Given the description of an element on the screen output the (x, y) to click on. 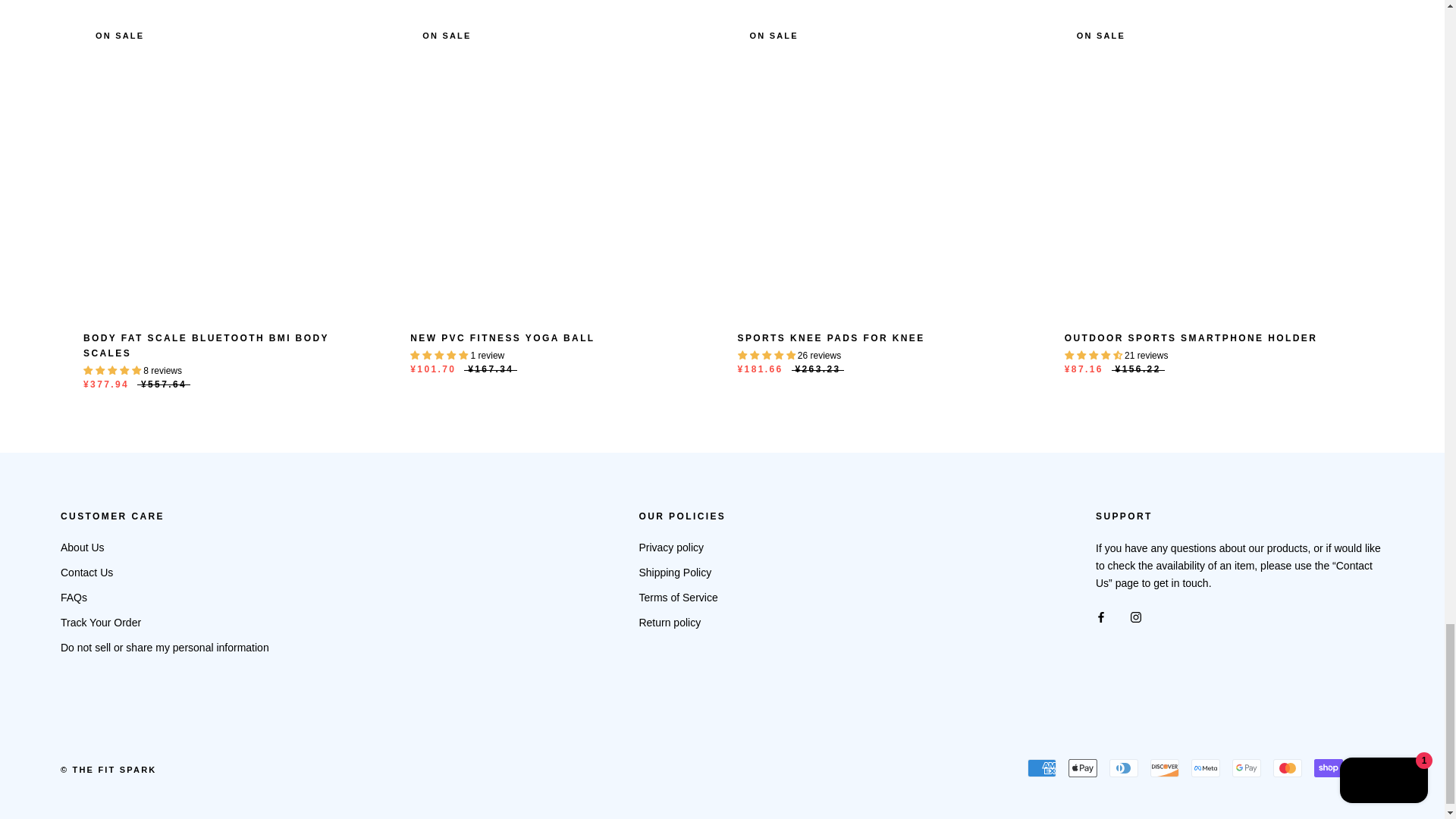
Meta Pay (1205, 768)
Shop Pay (1328, 768)
Discover (1164, 768)
Diners Club (1123, 768)
Apple Pay (1082, 768)
Google Pay (1245, 768)
Mastercard (1286, 768)
American Express (1042, 768)
